Given the description of an element on the screen output the (x, y) to click on. 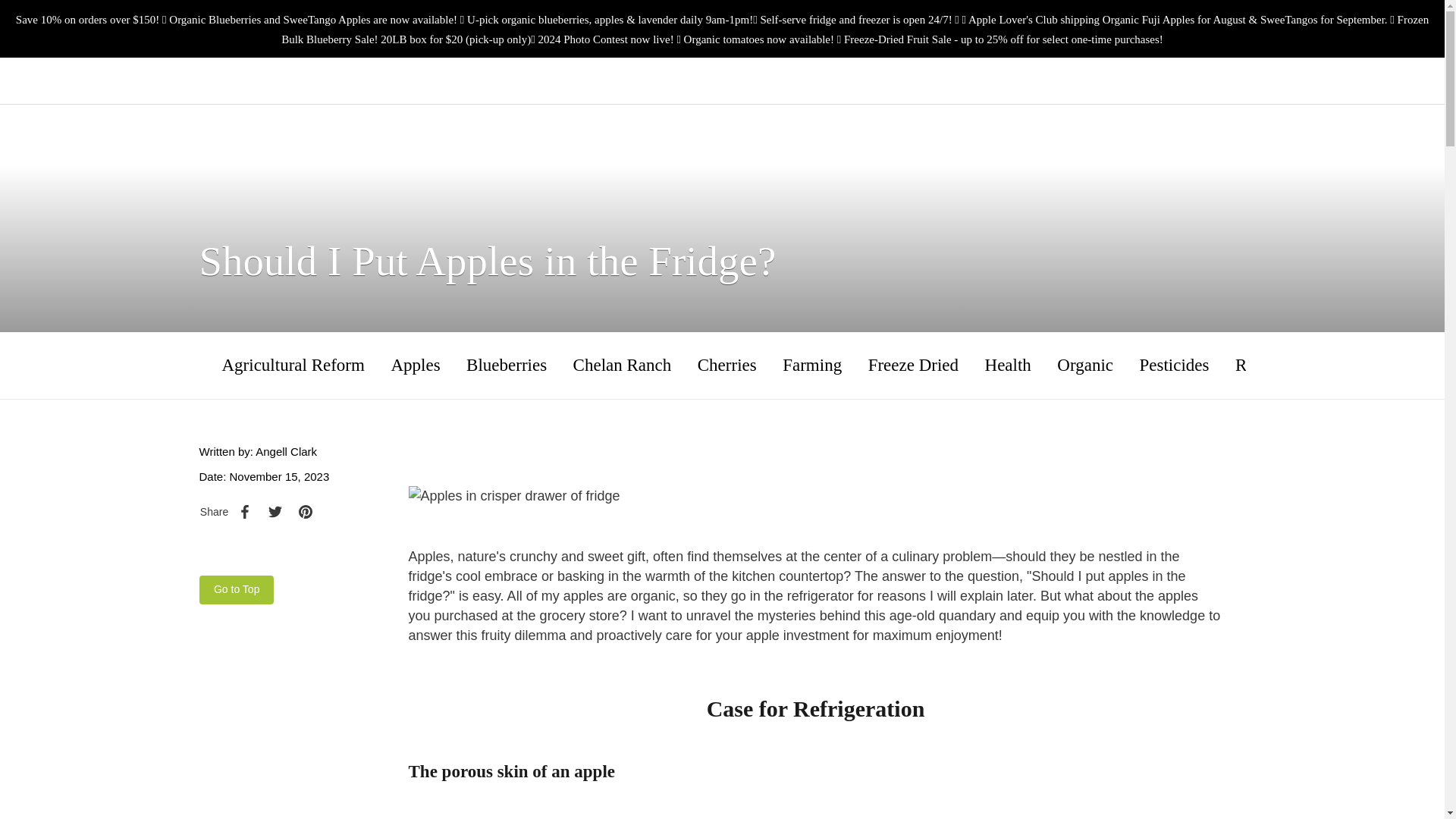
Show articles tagged agricultural reform (292, 364)
Show articles tagged Pesticides (1174, 364)
Show articles tagged Chelan Ranch (622, 364)
Show articles tagged cherries (727, 364)
Show articles tagged blueberries (506, 364)
Show articles tagged u-pick (1340, 364)
Show articles tagged farming (812, 364)
Show articles tagged freeze dried (912, 364)
Show articles tagged recipes (1262, 364)
Show articles tagged Health (1007, 364)
